Given the description of an element on the screen output the (x, y) to click on. 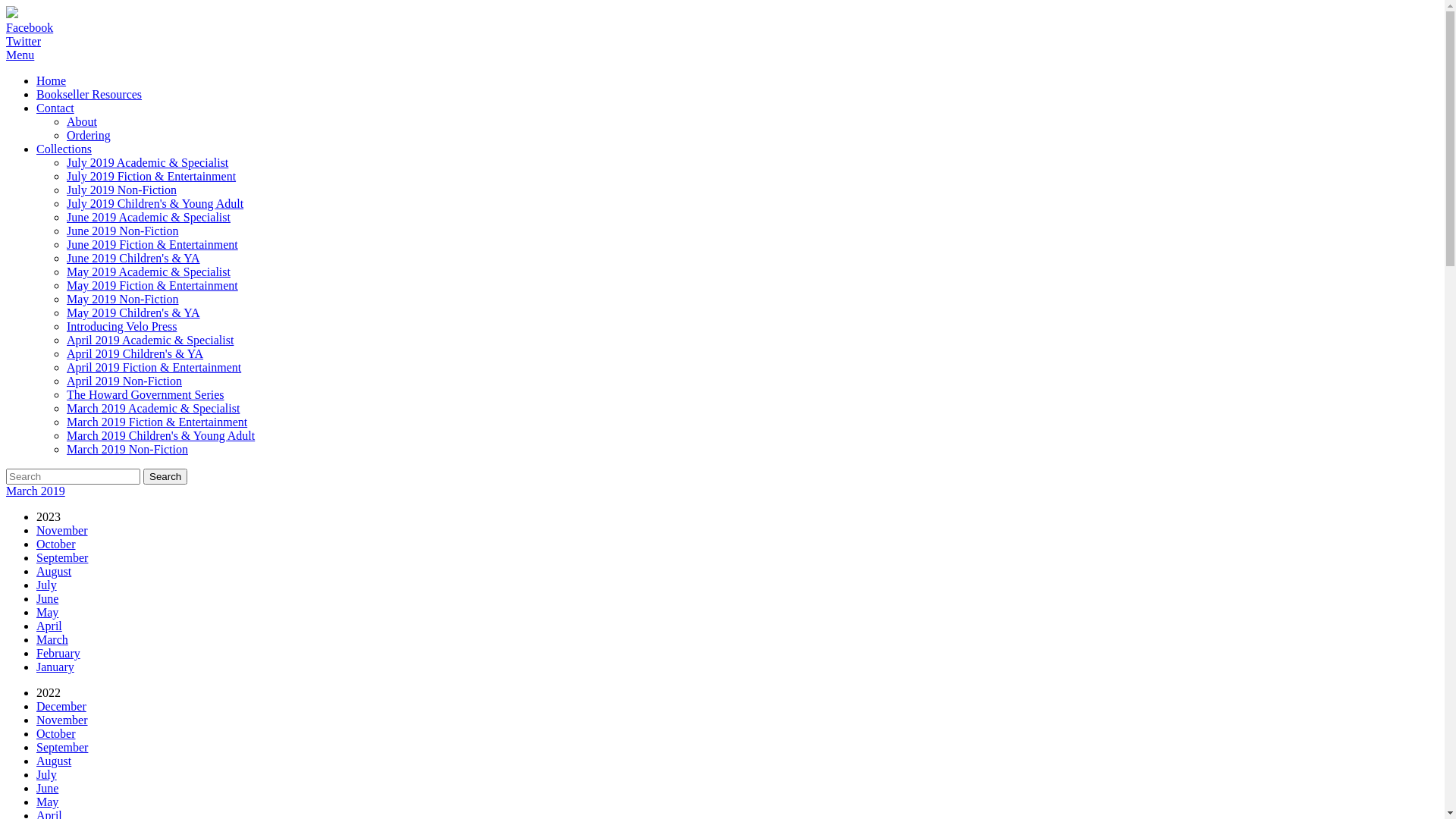
December Element type: text (61, 705)
The Howard Government Series Element type: text (145, 394)
October Element type: text (55, 733)
Ordering Element type: text (88, 134)
July 2019 Academic & Specialist Element type: text (147, 162)
November Element type: text (61, 530)
June 2019 Children's & YA Element type: text (133, 257)
February Element type: text (58, 652)
June Element type: text (47, 787)
March Element type: text (52, 639)
Home Element type: text (50, 80)
March 2019 Academic & Specialist Element type: text (152, 407)
About Element type: text (81, 121)
July Element type: text (46, 774)
September Element type: text (61, 746)
July Element type: text (46, 584)
Collections Element type: text (63, 148)
November Element type: text (61, 719)
June 2019 Fiction & Entertainment Element type: text (152, 244)
September Element type: text (61, 557)
January Element type: text (55, 666)
June Element type: text (47, 598)
August Element type: text (53, 570)
June 2019 Non-Fiction Element type: text (122, 230)
May Element type: text (47, 801)
July 2019 Fiction & Entertainment Element type: text (150, 175)
July 2019 Children's & Young Adult Element type: text (154, 203)
Twitter Element type: text (23, 40)
Introducing Velo Press Element type: text (121, 326)
Bookseller Resources Element type: text (88, 93)
May 2019 Non-Fiction Element type: text (122, 298)
June 2019 Academic & Specialist Element type: text (148, 216)
Search Element type: text (165, 476)
May 2019 Academic & Specialist Element type: text (148, 271)
May 2019 Children's & YA Element type: text (133, 312)
April Element type: text (49, 625)
April 2019 Academic & Specialist Element type: text (149, 339)
Contact Element type: text (55, 107)
March 2019 Fiction & Entertainment Element type: text (156, 421)
May 2019 Fiction & Entertainment Element type: text (152, 285)
April 2019 Fiction & Entertainment Element type: text (153, 366)
March 2019 Element type: text (35, 490)
April 2019 Children's & YA Element type: text (134, 353)
Menu Element type: text (20, 54)
October Element type: text (55, 543)
March 2019 Children's & Young Adult Element type: text (160, 435)
March 2019 Non-Fiction Element type: text (127, 448)
April 2019 Non-Fiction Element type: text (124, 380)
Facebook Element type: text (29, 27)
July 2019 Non-Fiction Element type: text (121, 189)
August Element type: text (53, 760)
May Element type: text (47, 611)
